Given the description of an element on the screen output the (x, y) to click on. 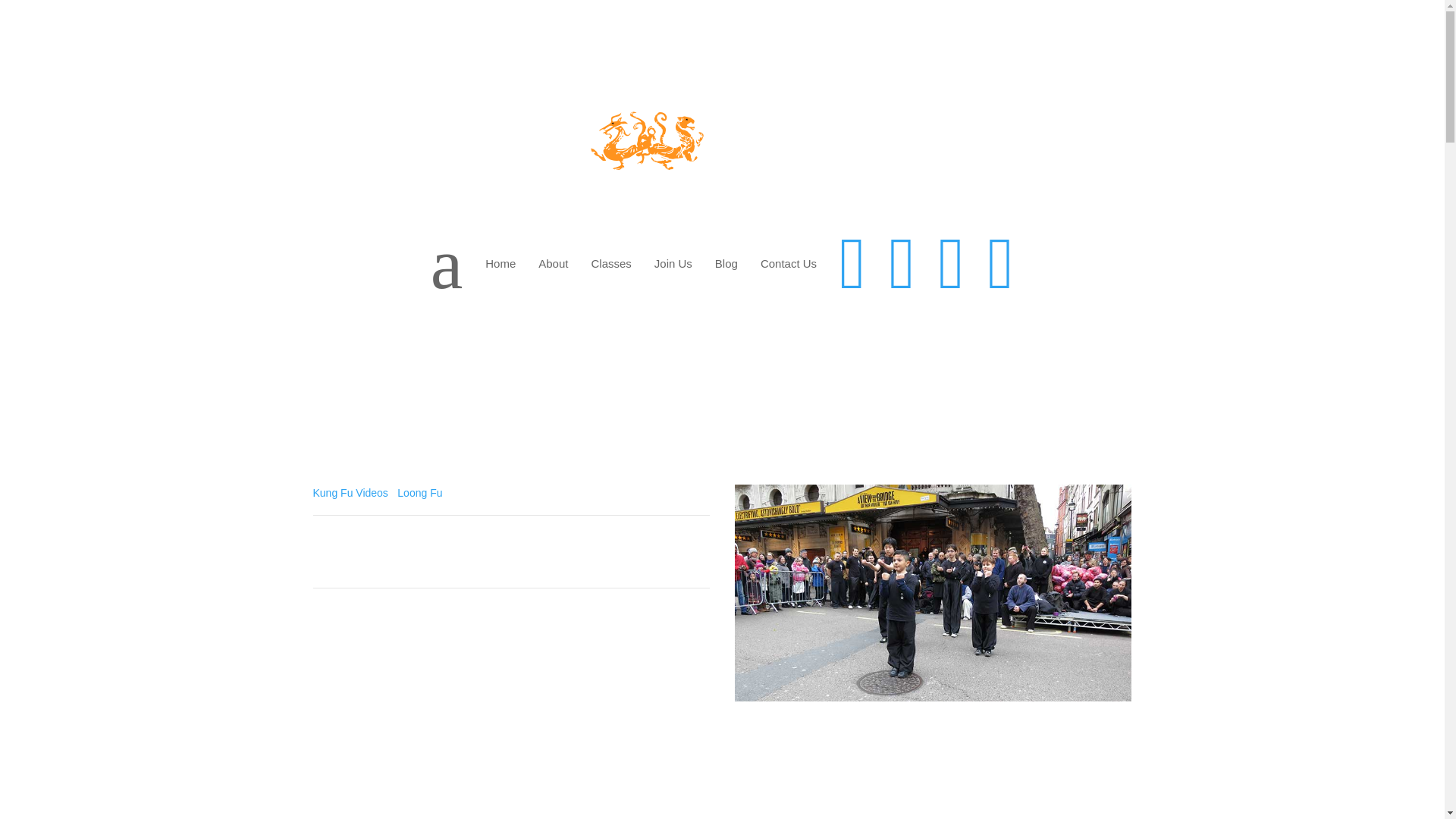
Follow on Instagram (1118, 726)
Loong Fu Tong (412, 660)
About (553, 263)
Kung Fu Videos (350, 492)
Follow on Facebook (1058, 726)
Loong Fu (419, 492)
loongfu-logo (543, 144)
Contact Us (788, 263)
blog-china-town-london-demo (933, 592)
Blog (726, 263)
Follow on Youtube (1088, 726)
Join Us (673, 263)
Home (500, 263)
Classes (610, 263)
